Given the description of an element on the screen output the (x, y) to click on. 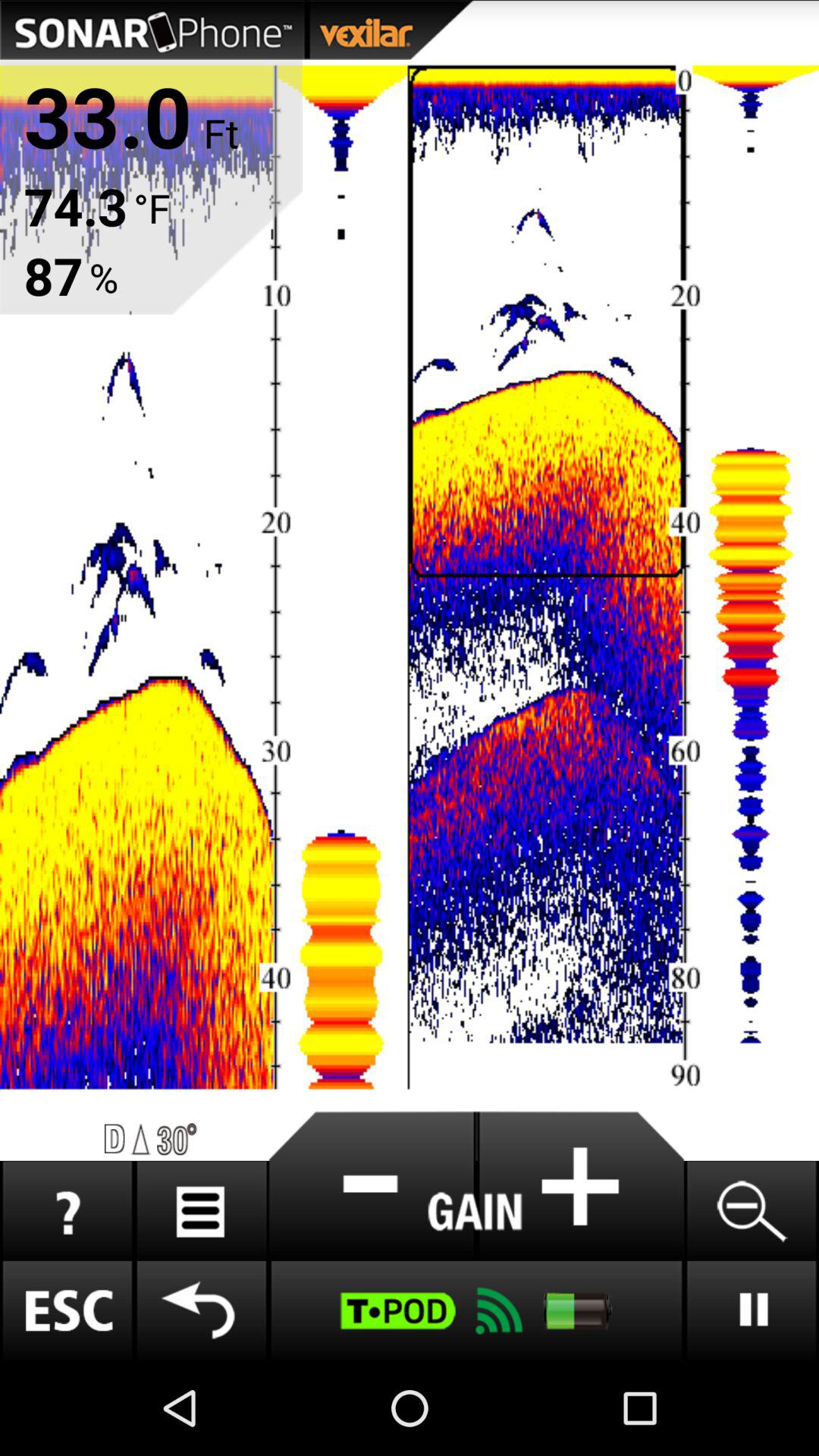
zoom out (751, 1210)
